Given the description of an element on the screen output the (x, y) to click on. 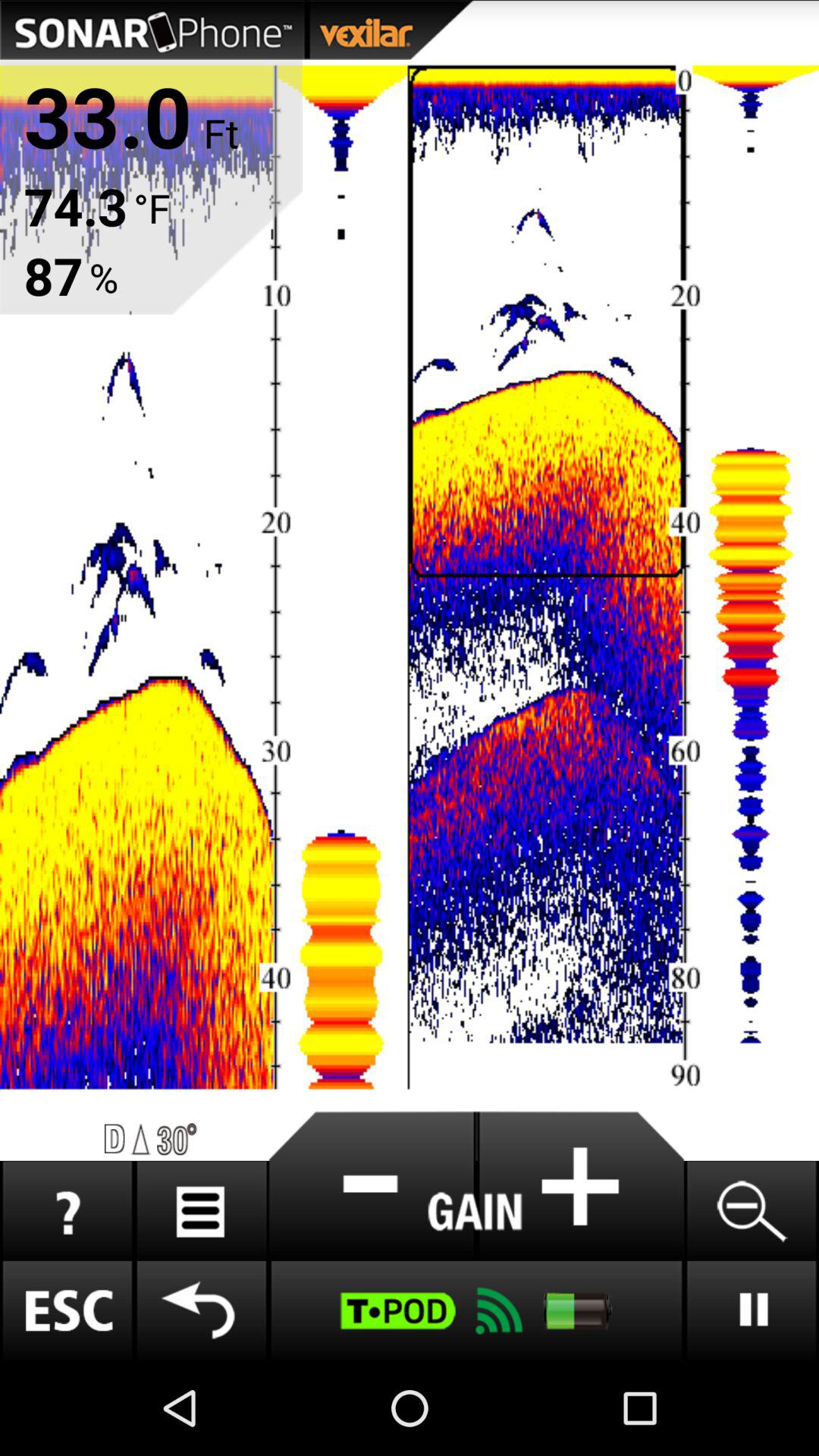
zoom out (751, 1210)
